Given the description of an element on the screen output the (x, y) to click on. 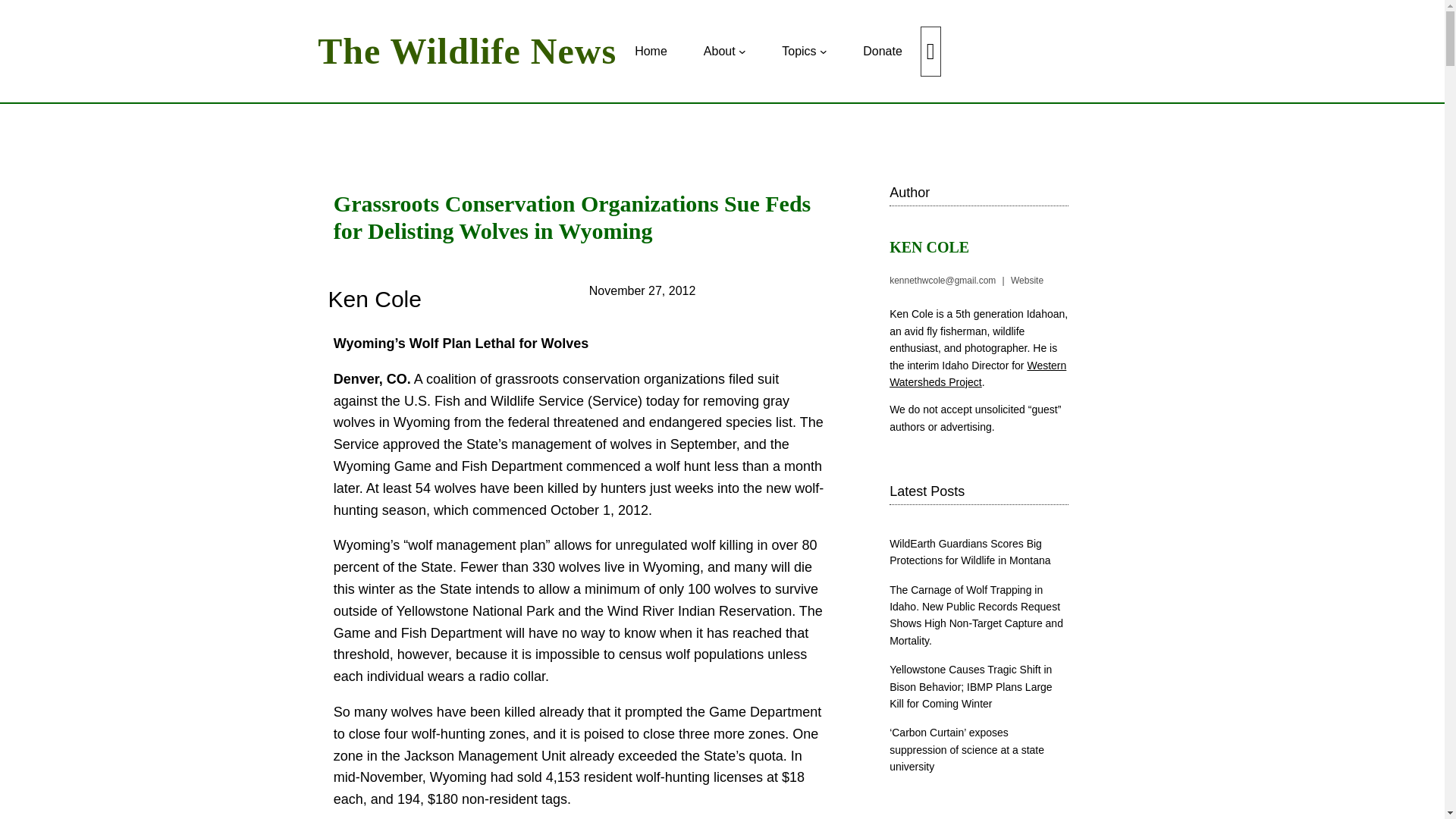
Topics (798, 51)
Home (650, 51)
About (719, 51)
The Wildlife News (466, 51)
